Given the description of an element on the screen output the (x, y) to click on. 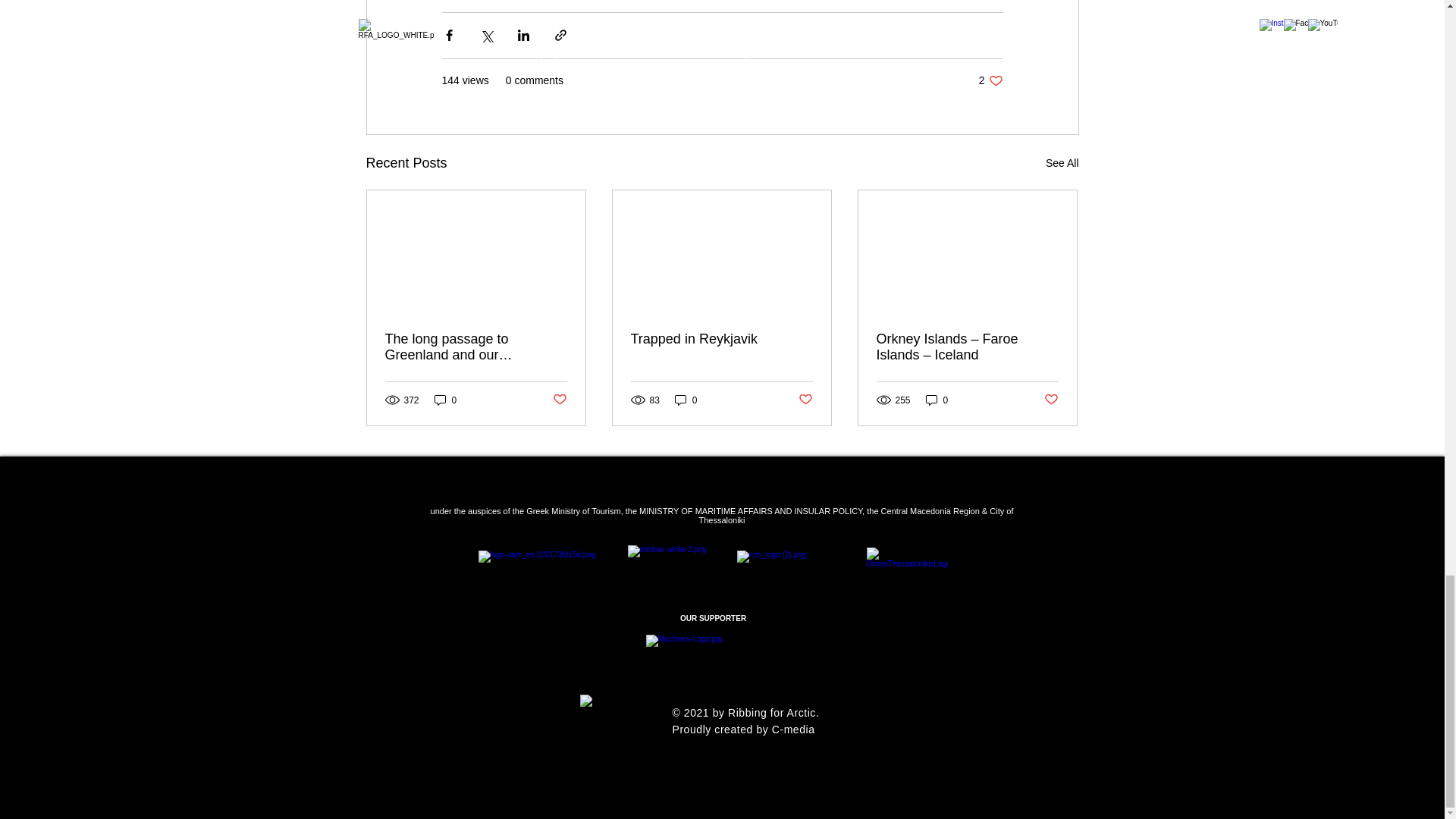
Post not marked as liked (558, 399)
0 (937, 400)
The long passage to Greenland and our appointment with death (476, 346)
0 (685, 400)
Post not marked as liked (804, 399)
0 (445, 400)
Trapped in Reykjavik (721, 338)
See All (1061, 162)
Post not marked as liked (1050, 399)
